Given the description of an element on the screen output the (x, y) to click on. 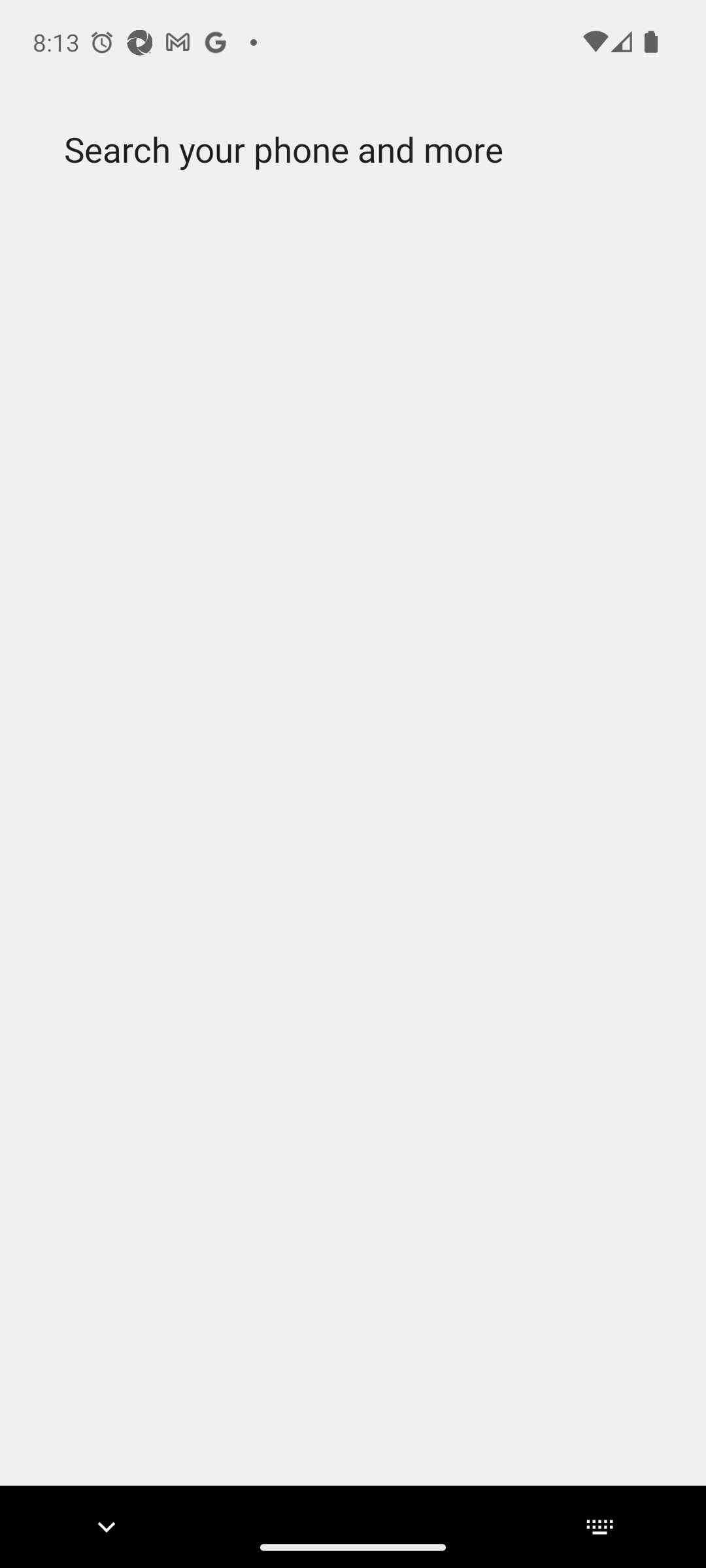
Search your phone and more (321, 149)
